Given the description of an element on the screen output the (x, y) to click on. 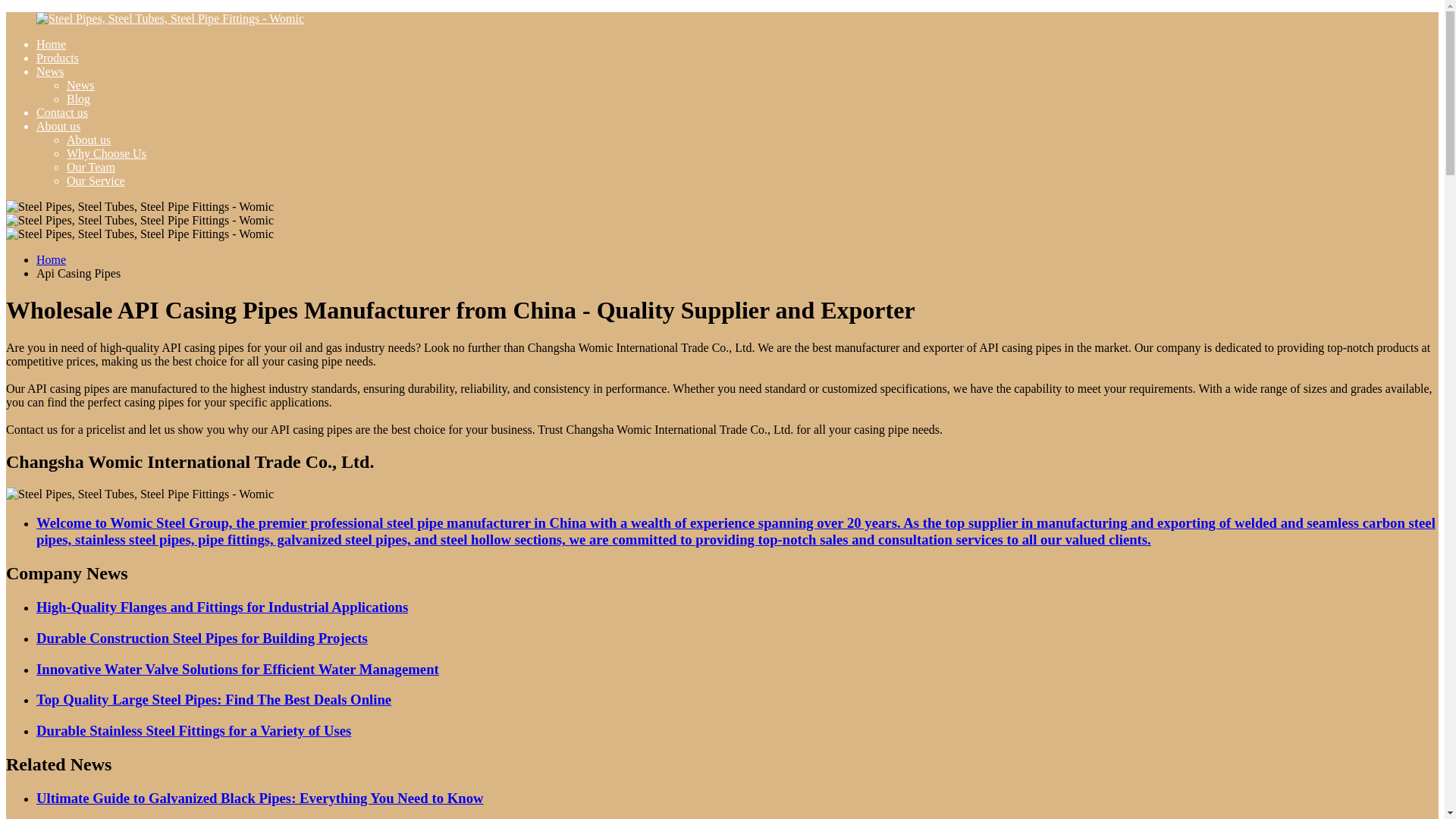
Blog (78, 98)
About us (58, 125)
Our Team (90, 166)
Home (50, 259)
Our Service (95, 180)
Home (50, 43)
About us (88, 139)
News (80, 84)
Products (57, 57)
News (50, 71)
Contact us (61, 112)
Why Choose Us (106, 153)
